Given the description of an element on the screen output the (x, y) to click on. 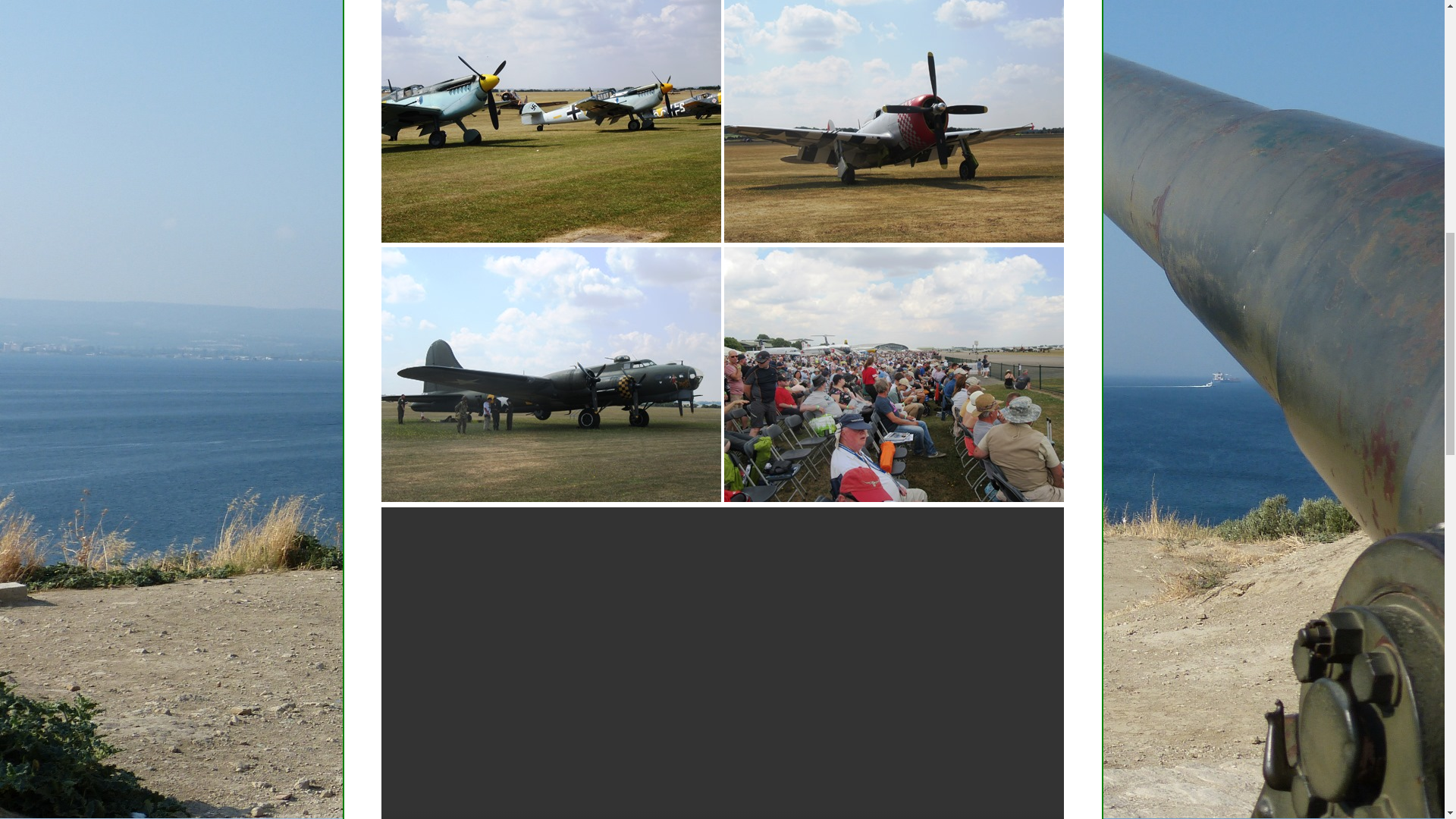
RAAF in the UK Tour 2018 (550, 121)
RAAF in the UK Tour 2018 (893, 121)
RAAF in the UK Tour 2018 (550, 374)
RAAF in the UK Tour 2018 (893, 374)
